Given the description of an element on the screen output the (x, y) to click on. 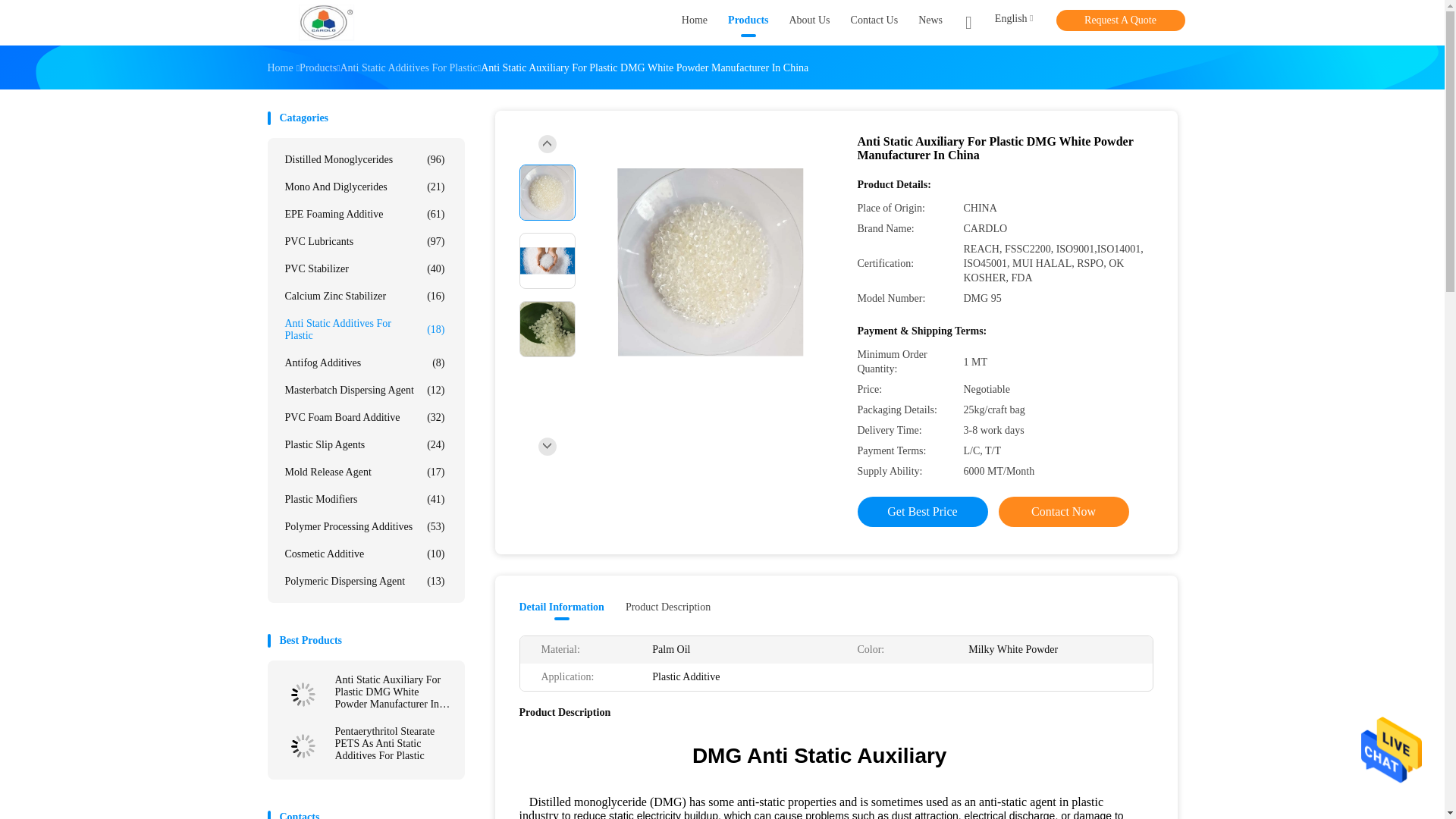
About Us (809, 22)
Products (748, 22)
Contact Us (874, 22)
Home (694, 22)
News (930, 22)
GUANGDONG CARDLO BIOTECHNOLOGY CO., LTD. (326, 22)
